Given the description of an element on the screen output the (x, y) to click on. 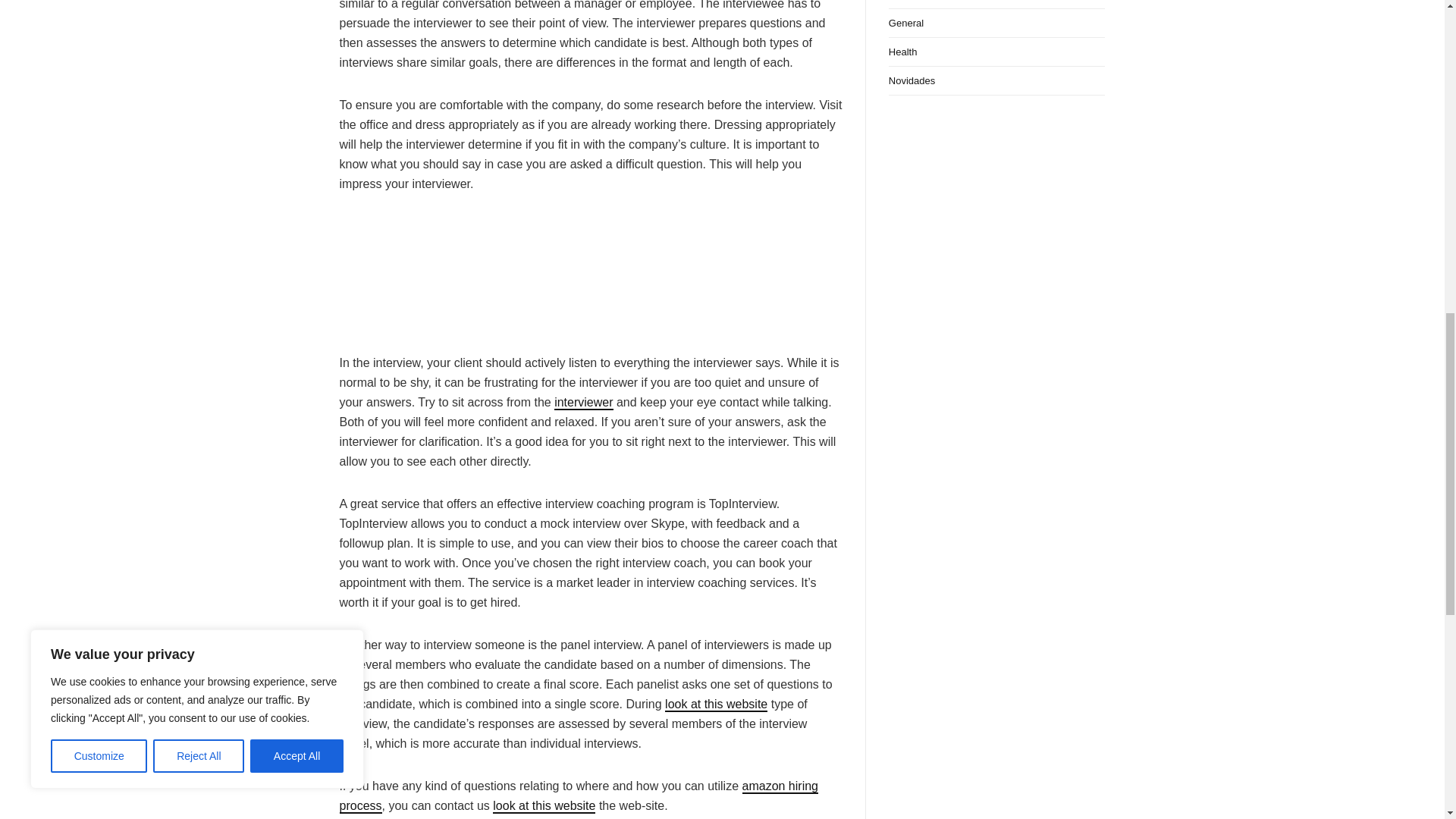
look at this website (716, 704)
look at this website (544, 806)
amazon hiring process (578, 796)
interviewer (583, 402)
